Given the description of an element on the screen output the (x, y) to click on. 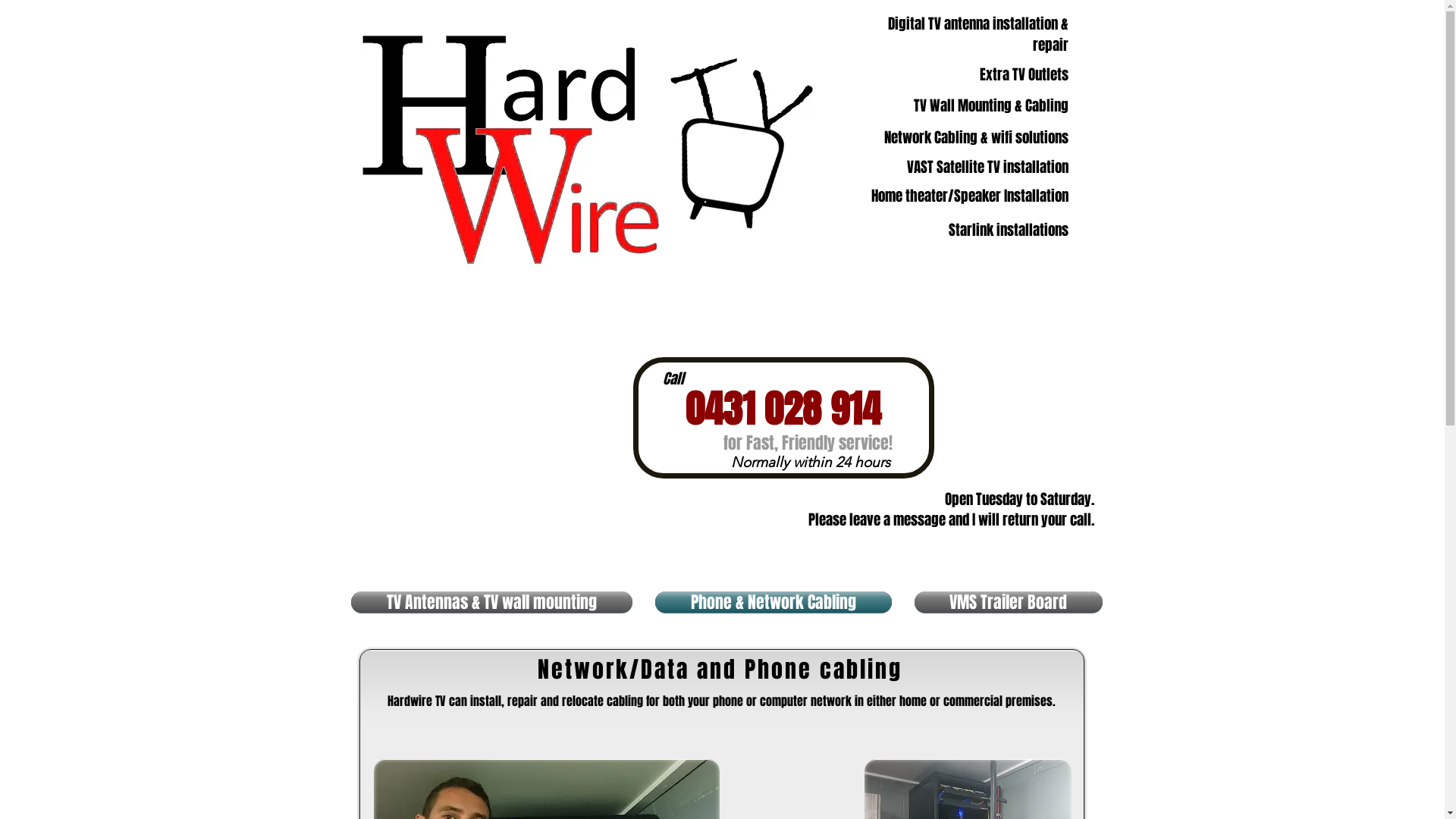
TV Antennas & TV wall mounting Element type: text (496, 601)
VMS Trailer Board Element type: text (1001, 601)
TV antenna Element type: hover (586, 148)
Phone & Network Cabling Element type: text (772, 601)
